Given the description of an element on the screen output the (x, y) to click on. 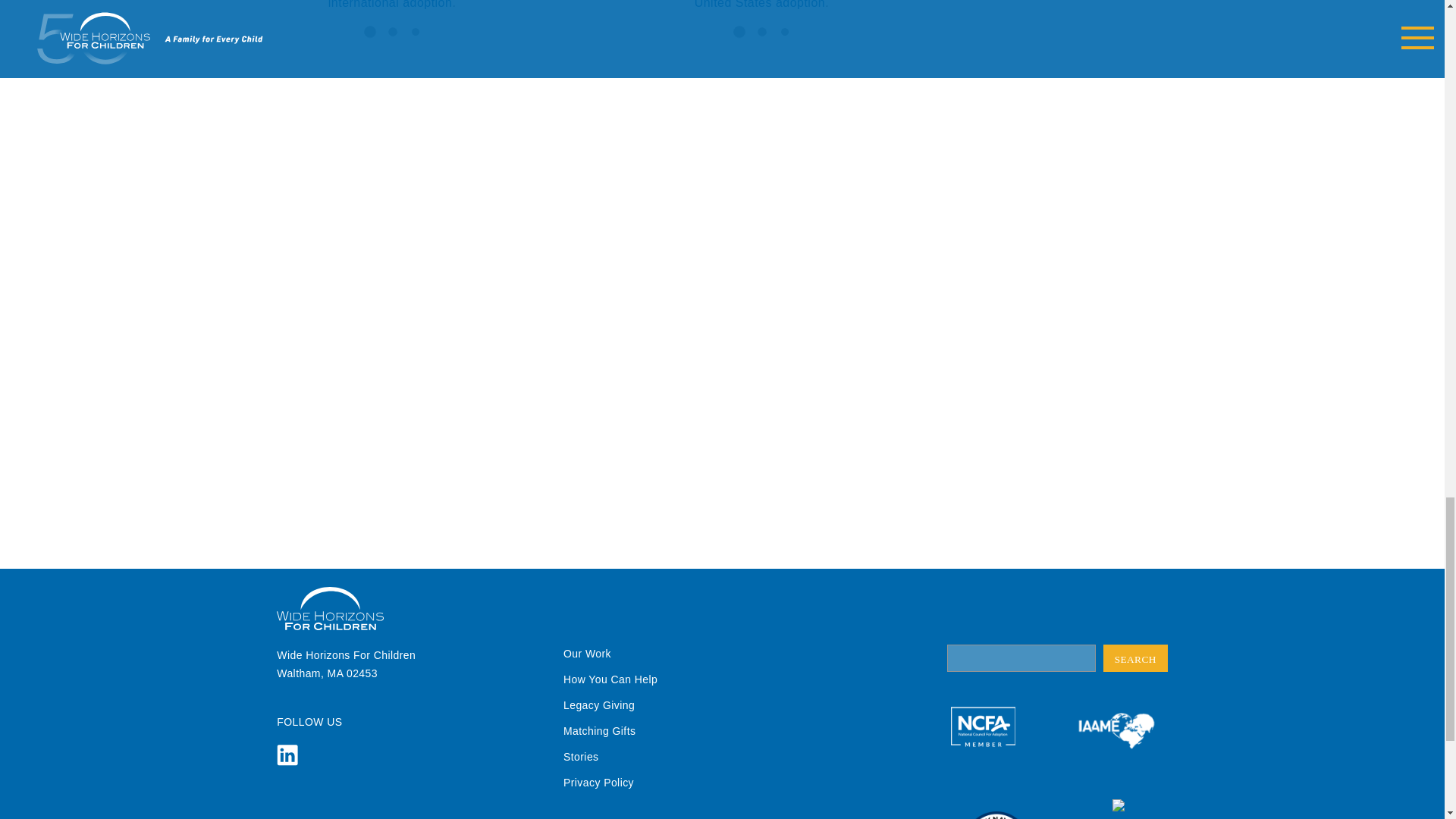
Privacy Policy (598, 782)
Matching Gifts (598, 730)
SEARCH (1135, 657)
Our Work (587, 653)
Stories (580, 756)
Legacy Giving (598, 705)
How You Can Help (610, 679)
